Given the description of an element on the screen output the (x, y) to click on. 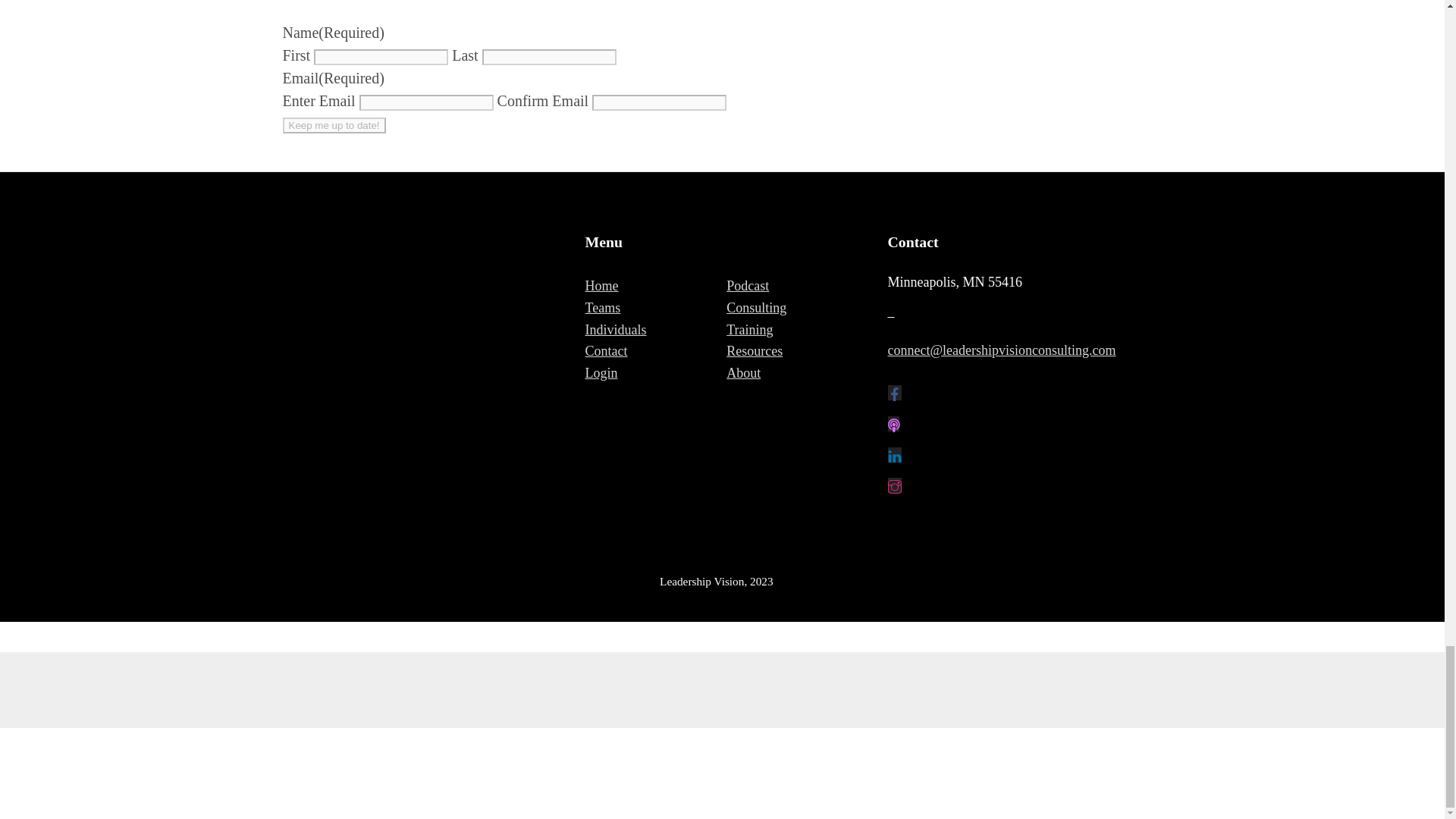
Home (601, 285)
Keep me up to date! (333, 125)
Teams (603, 307)
Keep me up to date! (333, 125)
